Given the description of an element on the screen output the (x, y) to click on. 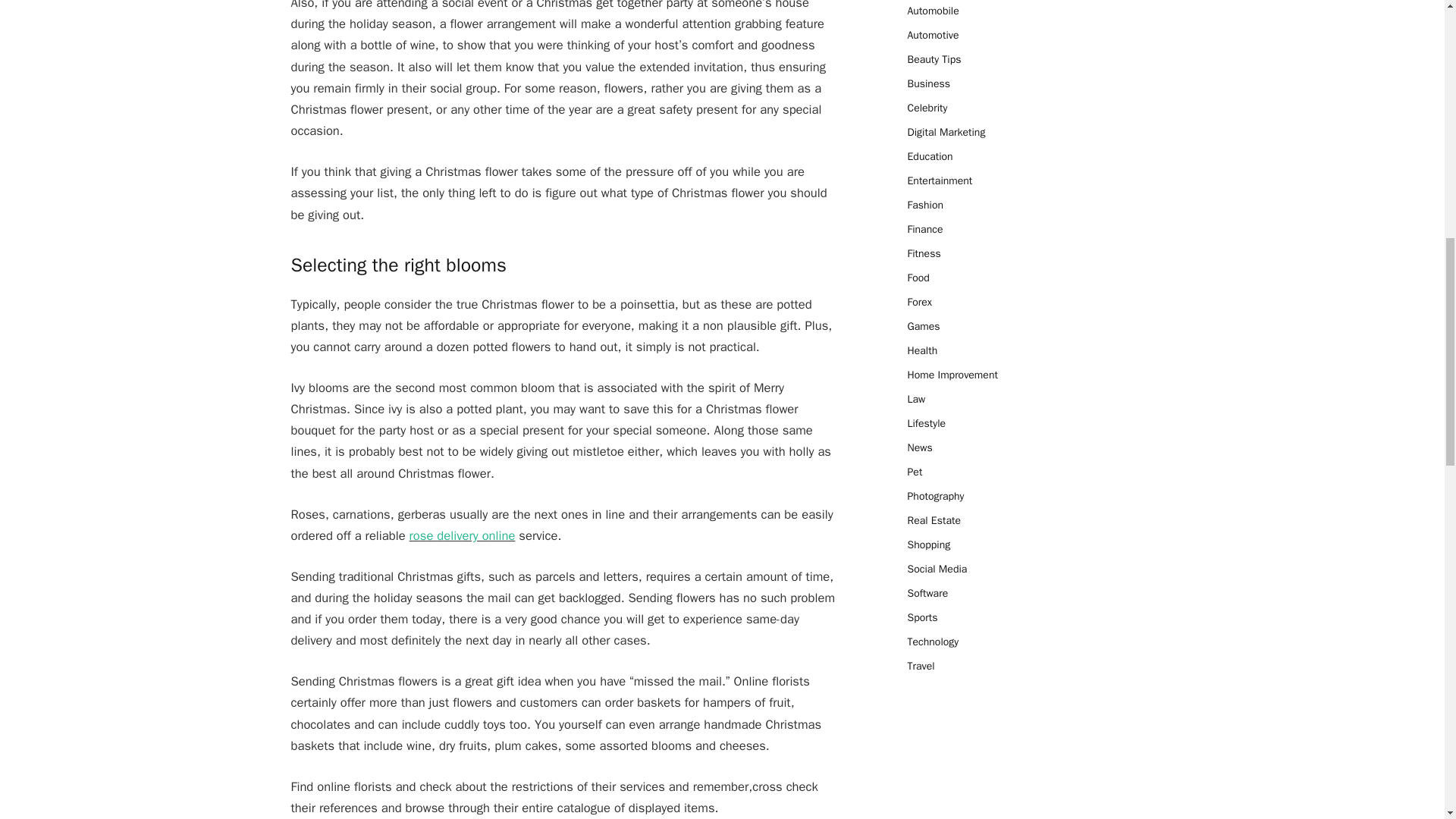
rose delivery online (462, 535)
